Given the description of an element on the screen output the (x, y) to click on. 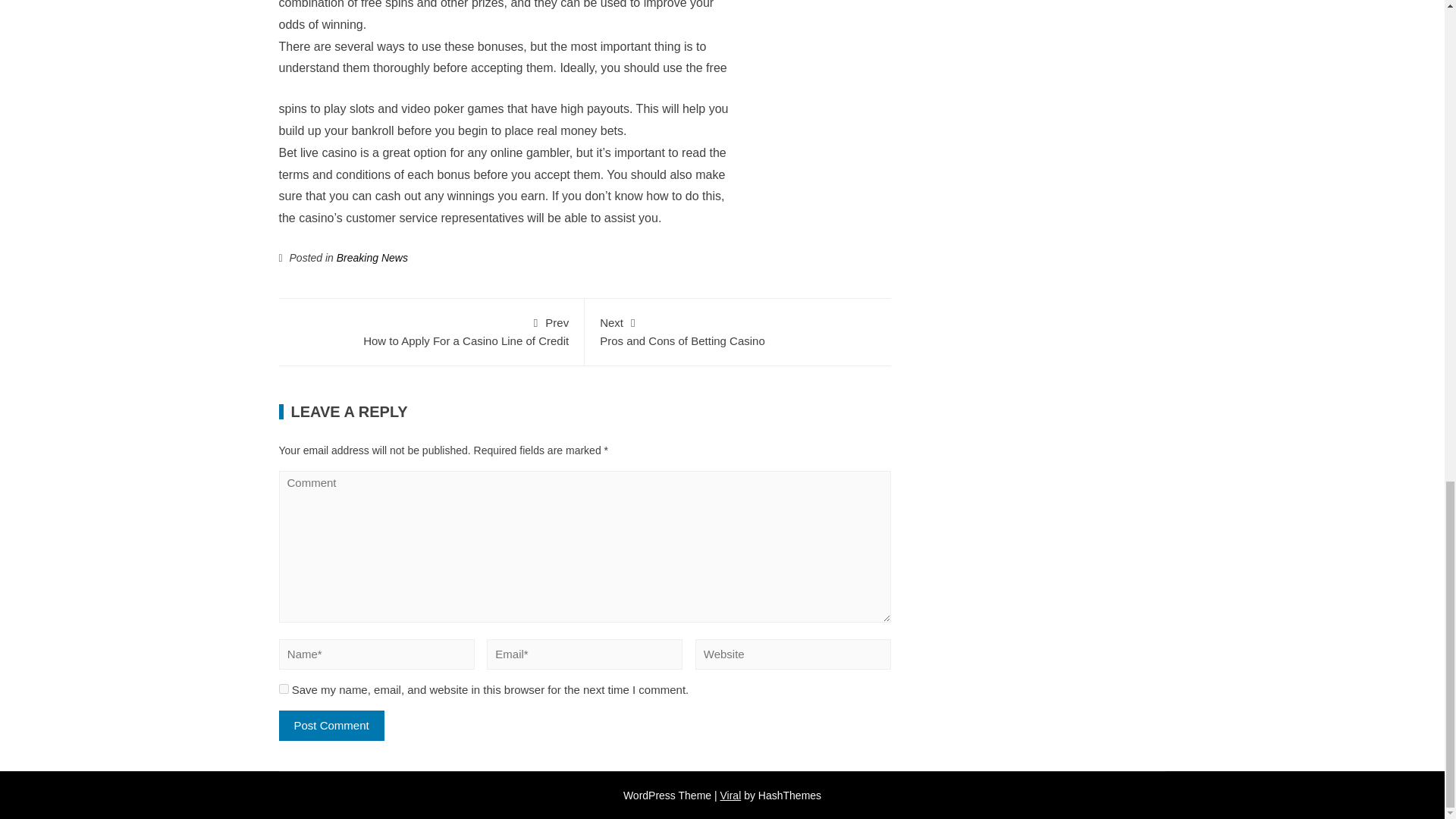
Viral (730, 795)
yes (283, 688)
Post Comment (331, 725)
Download Viral (431, 330)
Post Comment (730, 795)
Breaking News (331, 725)
